Given the description of an element on the screen output the (x, y) to click on. 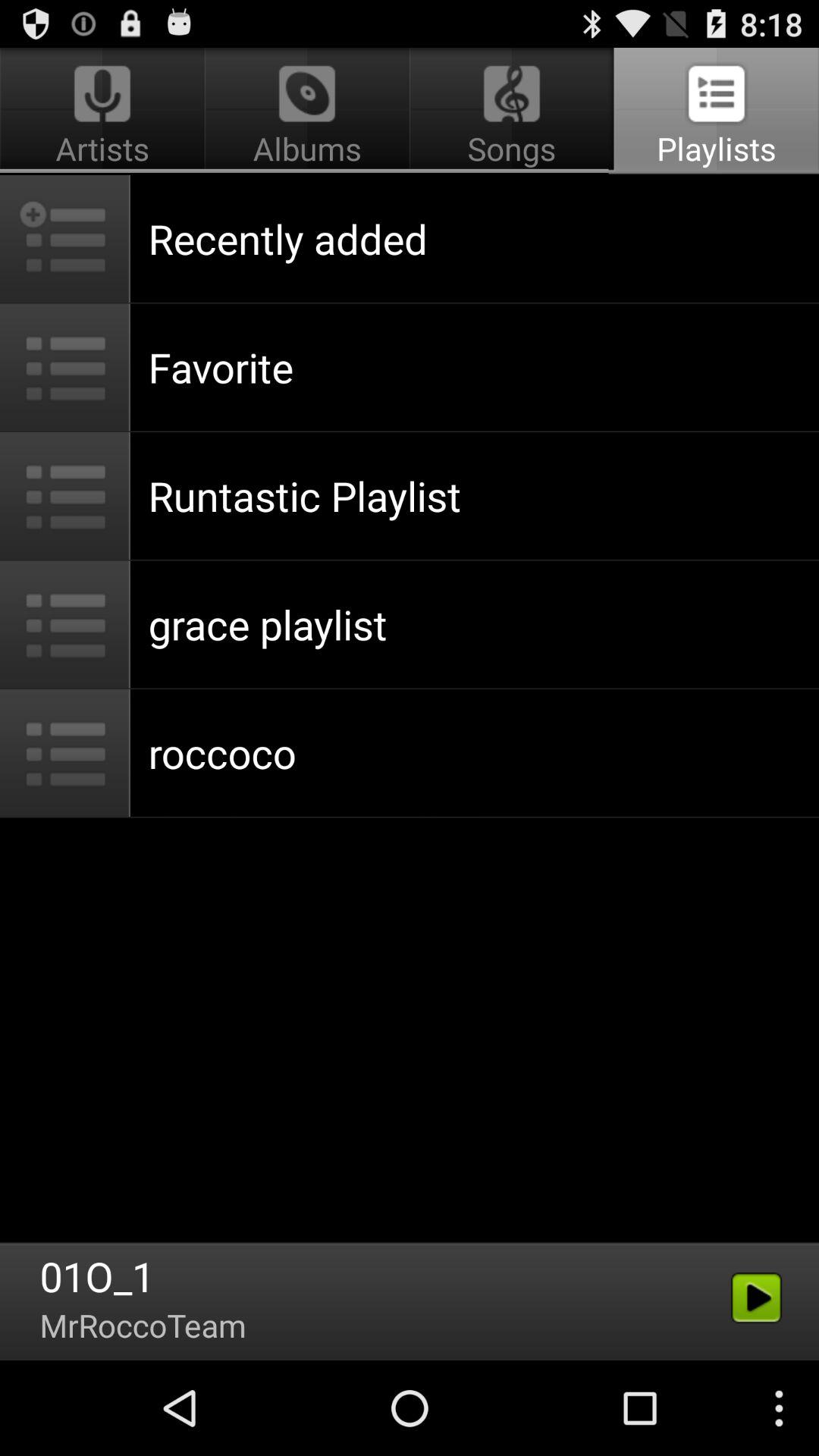
turn on item above recently added item (511, 111)
